Given the description of an element on the screen output the (x, y) to click on. 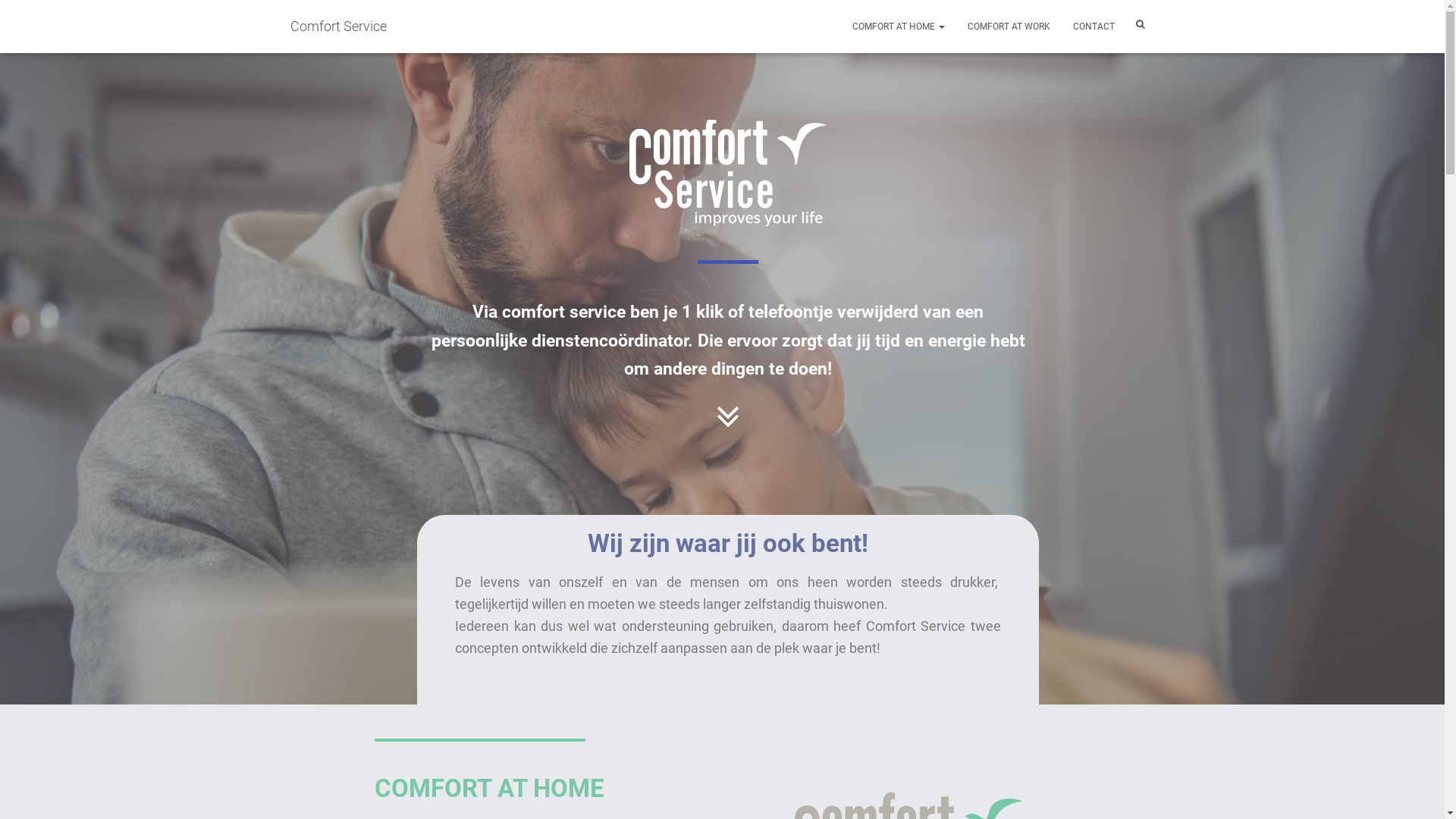
CONTACT Element type: text (1093, 26)
Search Element type: text (3, 16)
Comfort Service Element type: text (338, 26)
Comfort services Element type: hover (727, 172)
COMFORT AT WORK Element type: text (1007, 26)
COMFORT AT HOME Element type: text (897, 26)
